Given the description of an element on the screen output the (x, y) to click on. 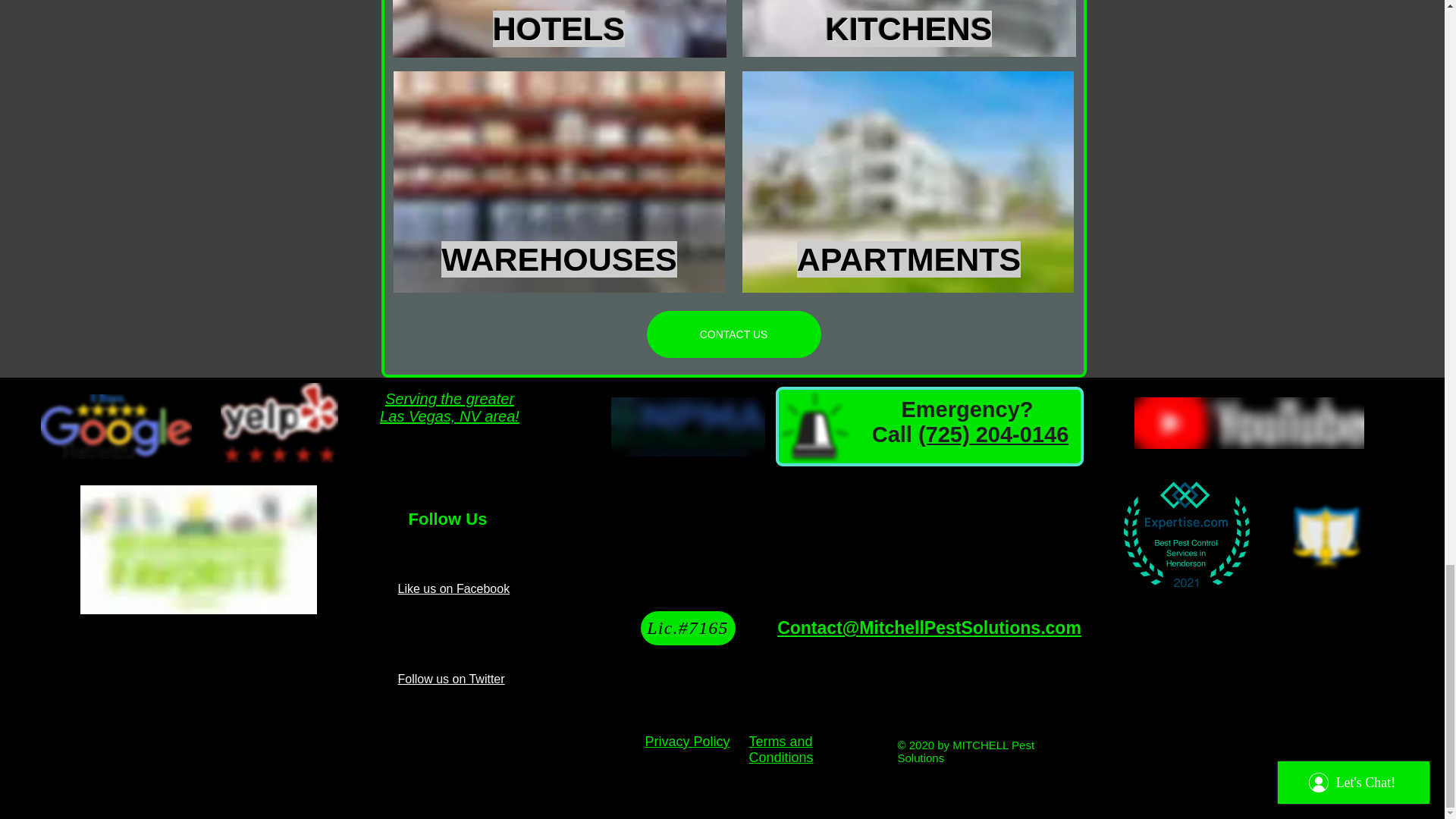
CONTACT US (733, 334)
Embedded Content (1182, 535)
Like us on Facebook (453, 588)
Serving the greater Las Vegas, NV area! (449, 407)
